Given the description of an element on the screen output the (x, y) to click on. 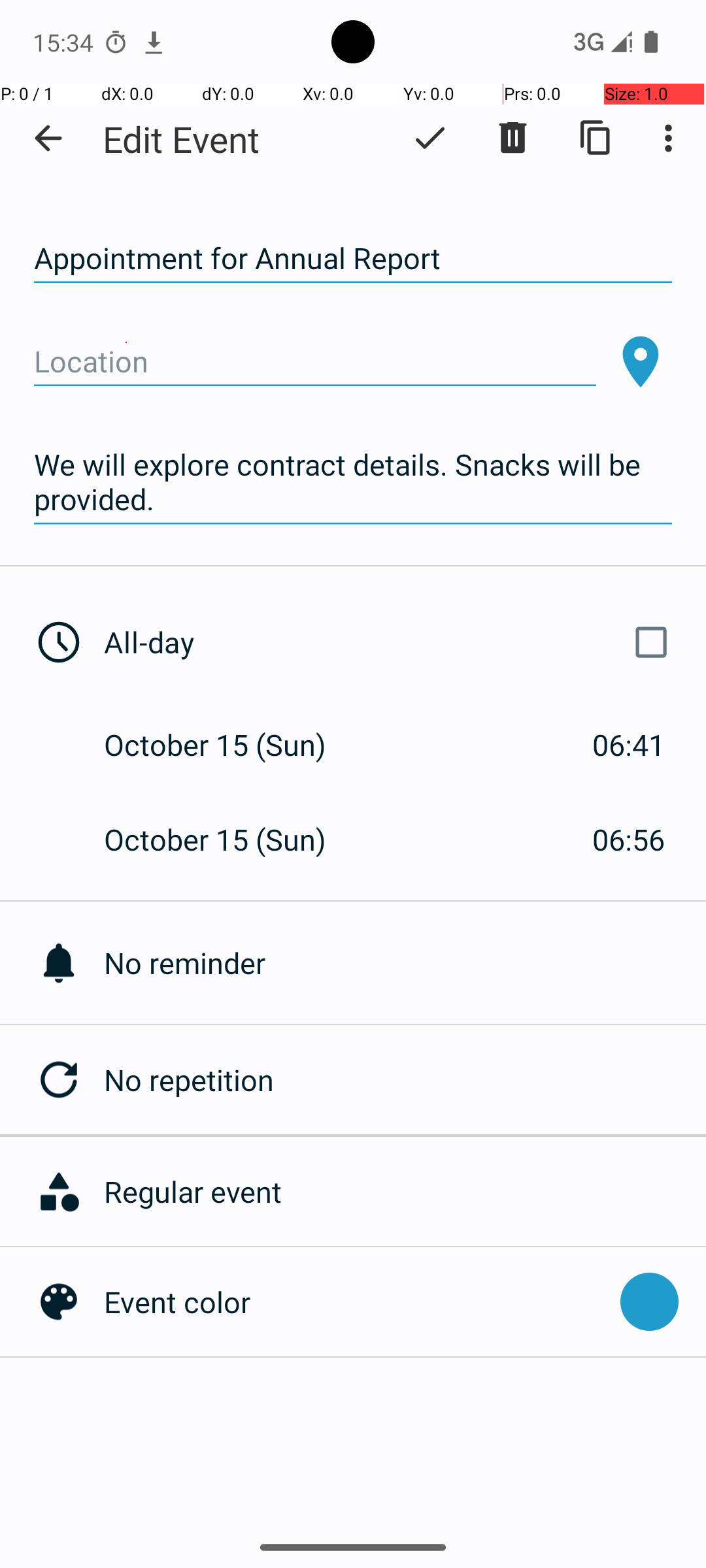
We will explore contract details. Snacks will be provided. Element type: android.widget.EditText (352, 482)
06:41 Element type: android.widget.TextView (628, 744)
06:56 Element type: android.widget.TextView (628, 838)
